Given the description of an element on the screen output the (x, y) to click on. 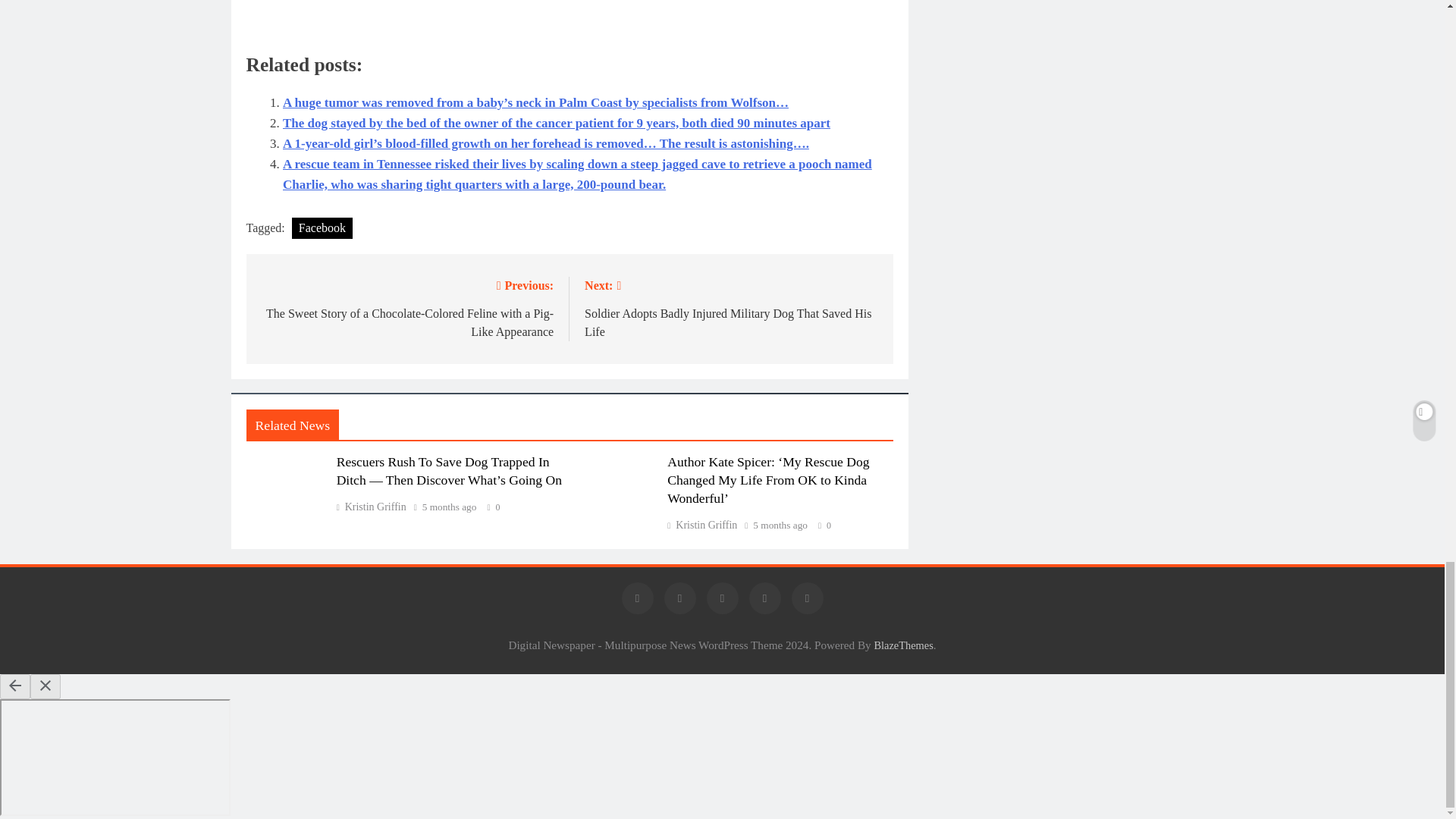
Kristin Griffin (371, 506)
Kristin Griffin (701, 524)
Facebook (322, 228)
5 months ago (780, 525)
5 months ago (449, 507)
